Given the description of an element on the screen output the (x, y) to click on. 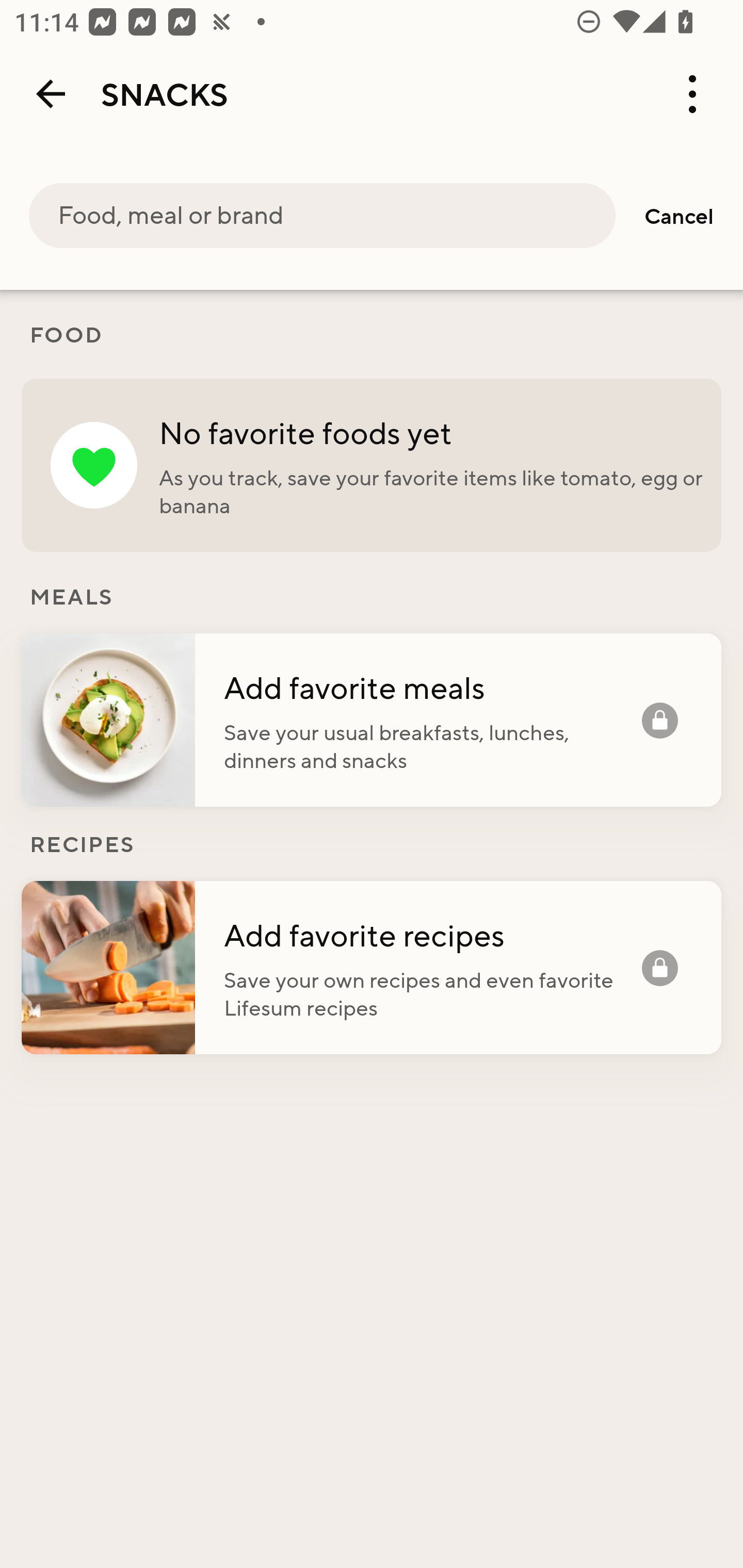
Back (50, 93)
Cancel (679, 215)
Add favorite meals (432, 686)
Add favorite recipes (432, 934)
